Given the description of an element on the screen output the (x, y) to click on. 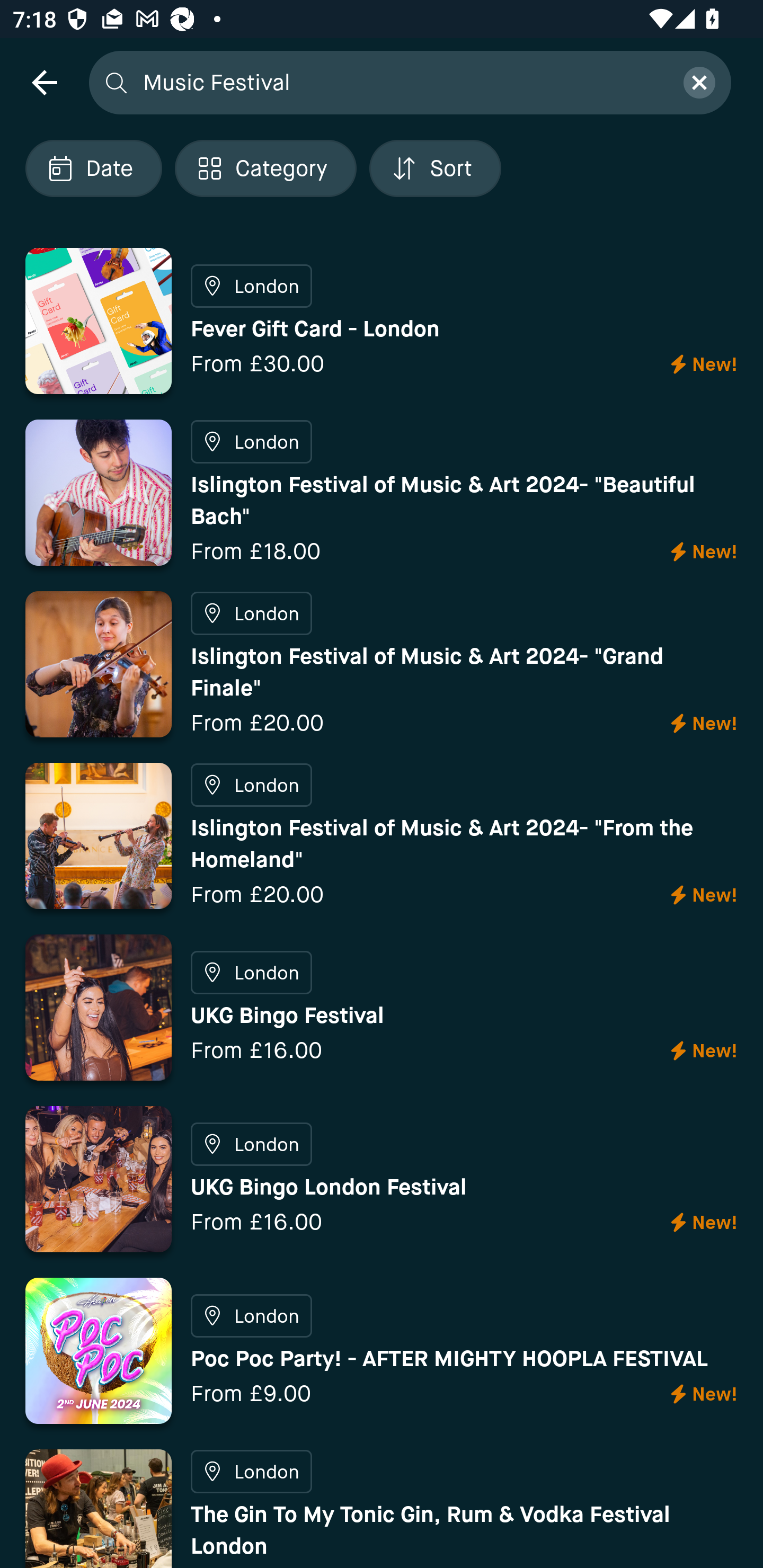
navigation icon (44, 81)
Music Festival (402, 81)
Localized description Date (93, 168)
Localized description Category (265, 168)
Localized description Sort (435, 168)
